Given the description of an element on the screen output the (x, y) to click on. 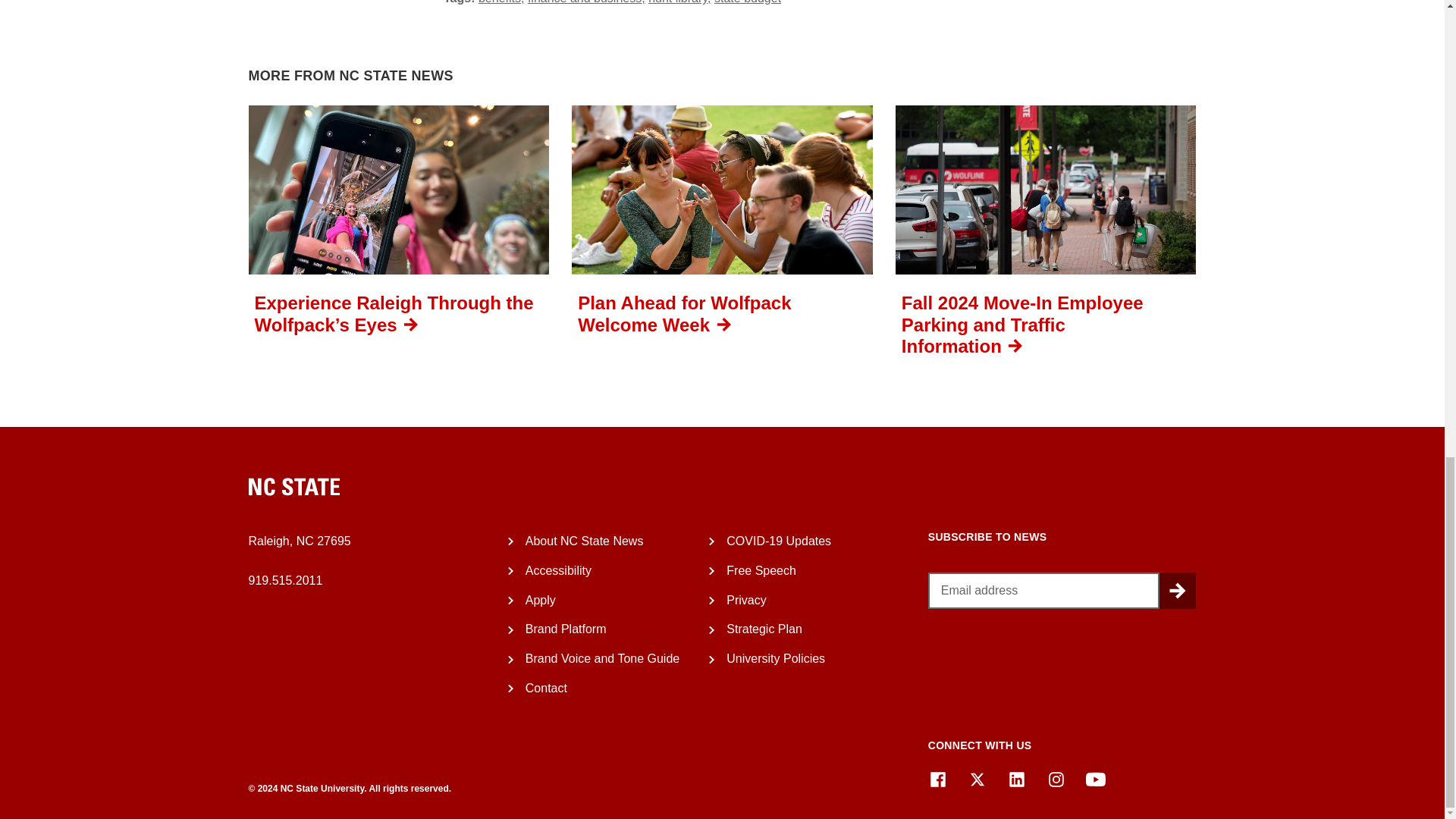
Instagram (1055, 779)
LinkedIn (1016, 779)
YouTube (1095, 779)
X (977, 779)
Facebook (937, 779)
